Given the description of an element on the screen output the (x, y) to click on. 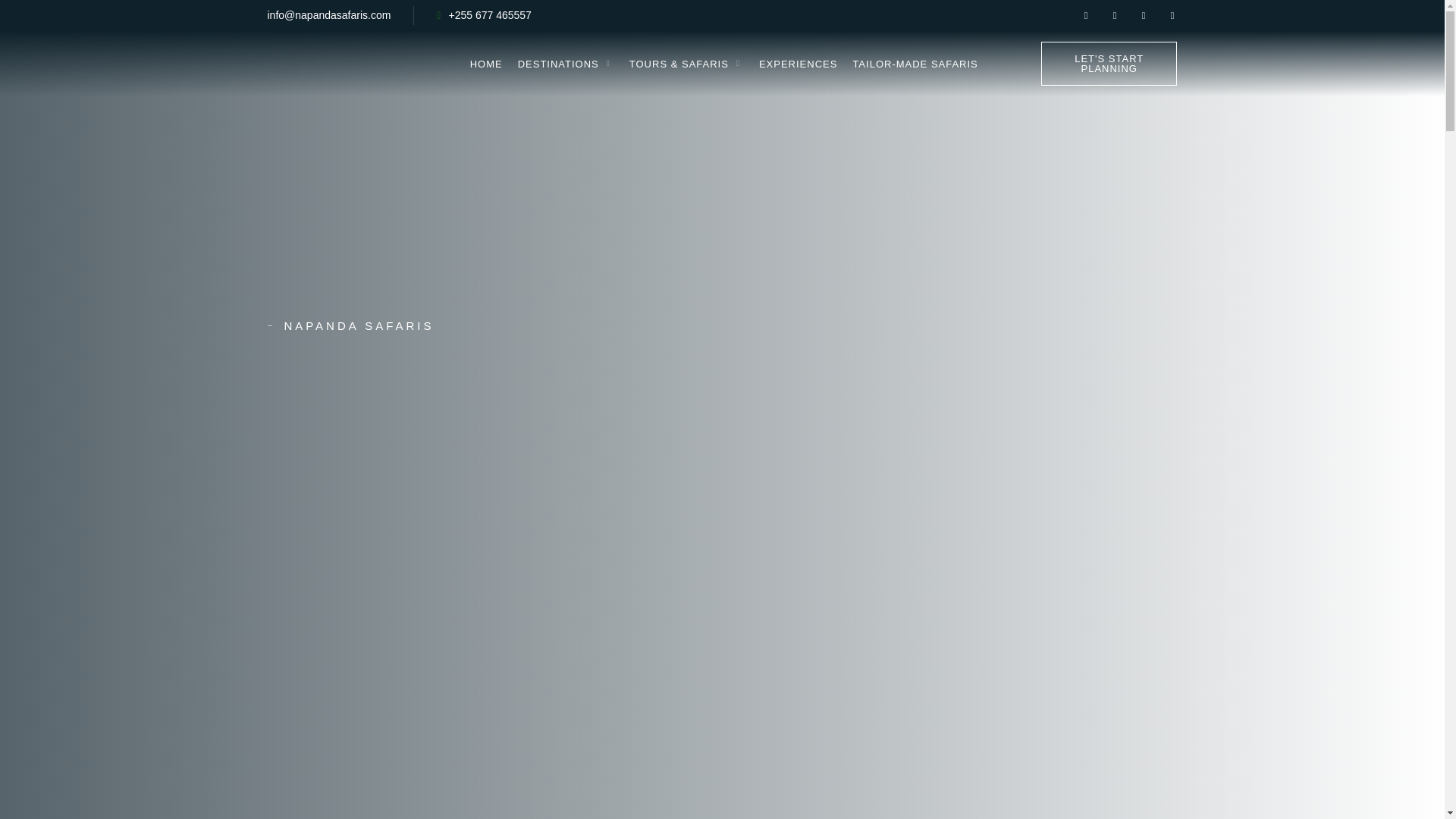
LET'S START PLANNING (1109, 63)
NAPANDA SAFARIS (494, 325)
DESTINATIONS (566, 63)
TAILOR-MADE SAFARIS (914, 63)
EXPERIENCES (797, 63)
LET'S START PLANNING (1109, 63)
